Given the description of an element on the screen output the (x, y) to click on. 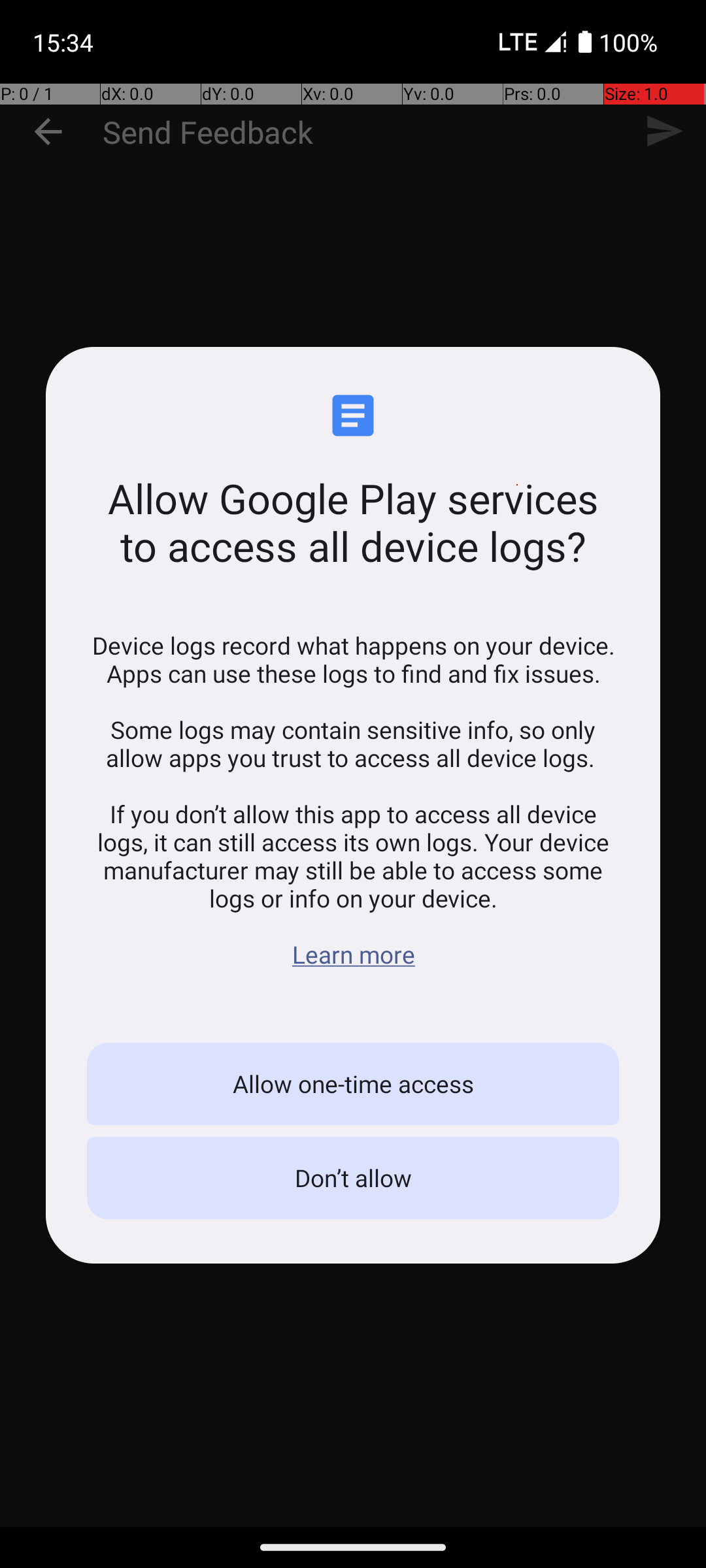
Allow Google Play services to access all device logs? Element type: android.widget.TextView (352, 521)
Device logs record what happens on your device. Apps can use these logs to find and fix issues.

Some logs may contain sensitive info, so only allow apps you trust to access all device logs. 

If you don’t allow this app to access all device logs, it can still access its own logs. Your device manufacturer may still be able to access some logs or info on your device.

Learn more Element type: android.widget.TextView (352, 799)
Allow one-time access Element type: android.widget.Button (352, 1083)
